Given the description of an element on the screen output the (x, y) to click on. 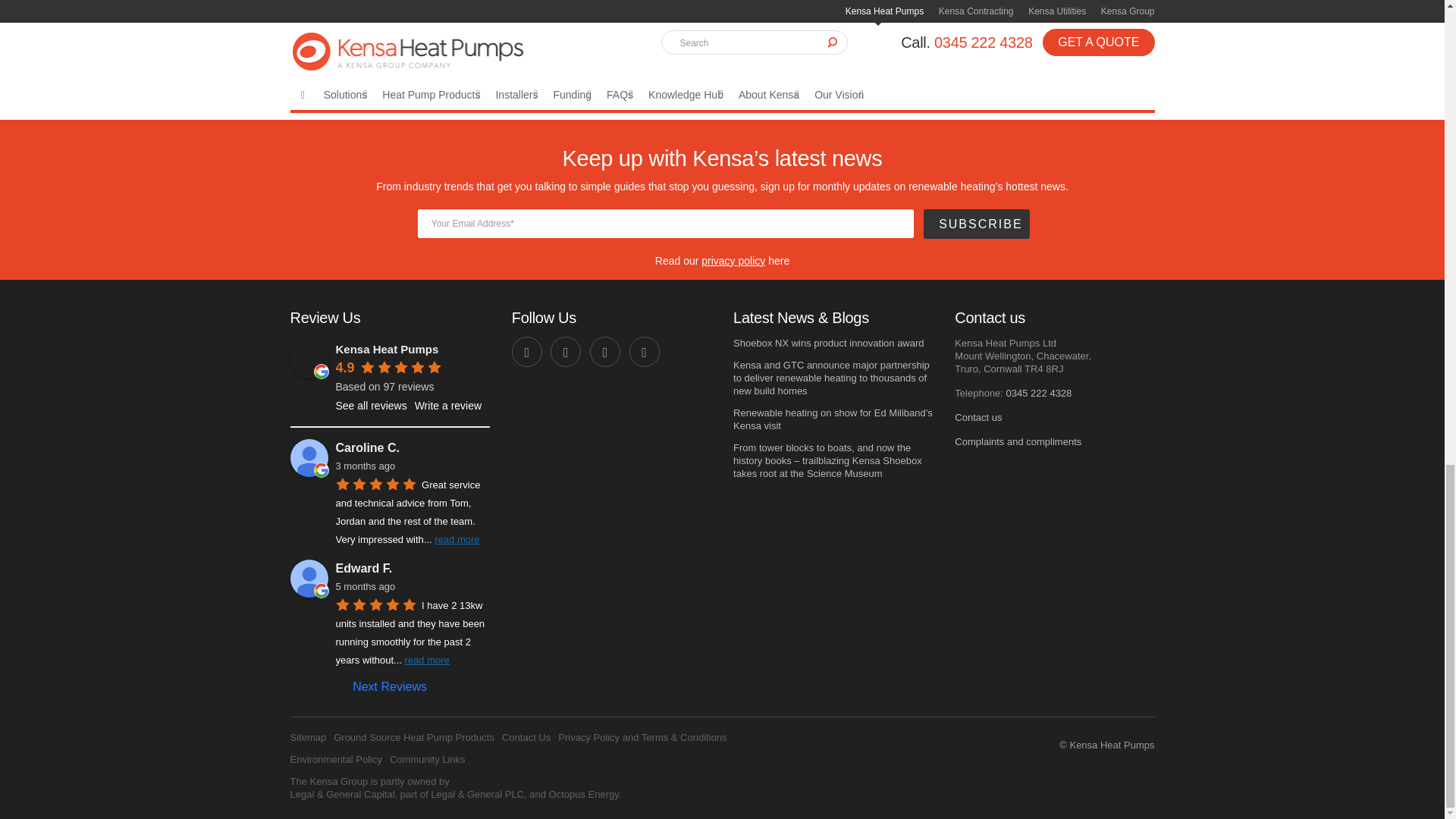
Kensa Heat Pumps (308, 359)
Caroline C. (308, 457)
Subscribe (976, 224)
Edward F. (411, 568)
Edward F. (308, 578)
Caroline C. (411, 447)
